Given the description of an element on the screen output the (x, y) to click on. 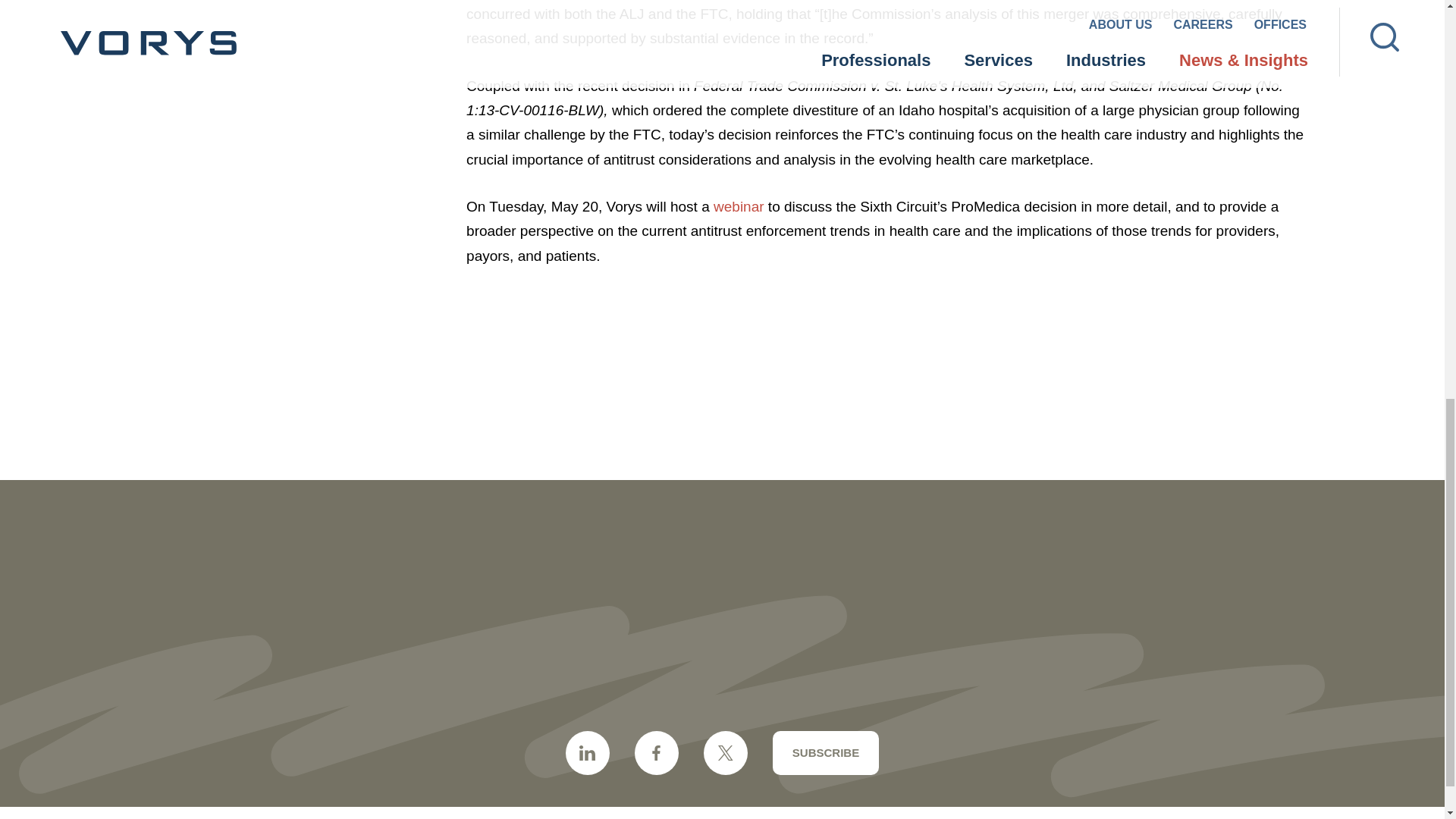
Linkedin Icon (588, 752)
Facebook Icon (656, 752)
